Given the description of an element on the screen output the (x, y) to click on. 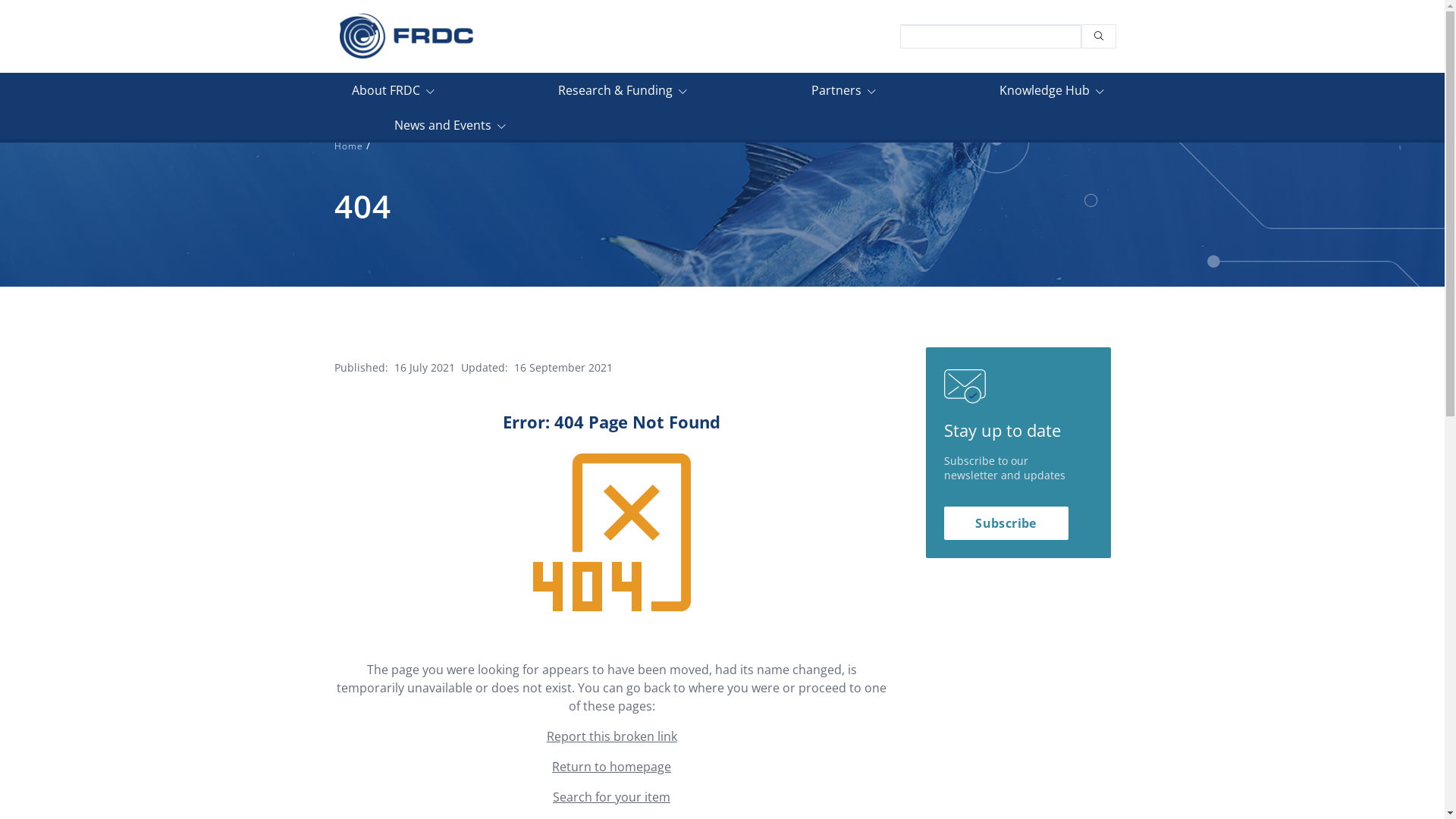
Report this broken link Element type: text (611, 736)
Research & Funding Element type: text (622, 93)
About FRDC Element type: text (392, 93)
Skip to main content Element type: text (0, 107)
Home Element type: hover (406, 36)
Partners Element type: text (843, 93)
Knowledge Hub Element type: text (1051, 93)
Return to homepage Element type: text (611, 766)
Subscribe Element type: text (1005, 522)
Home Element type: text (348, 145)
News and Events Element type: text (449, 128)
Search for your item Element type: text (611, 796)
